Given the description of an element on the screen output the (x, y) to click on. 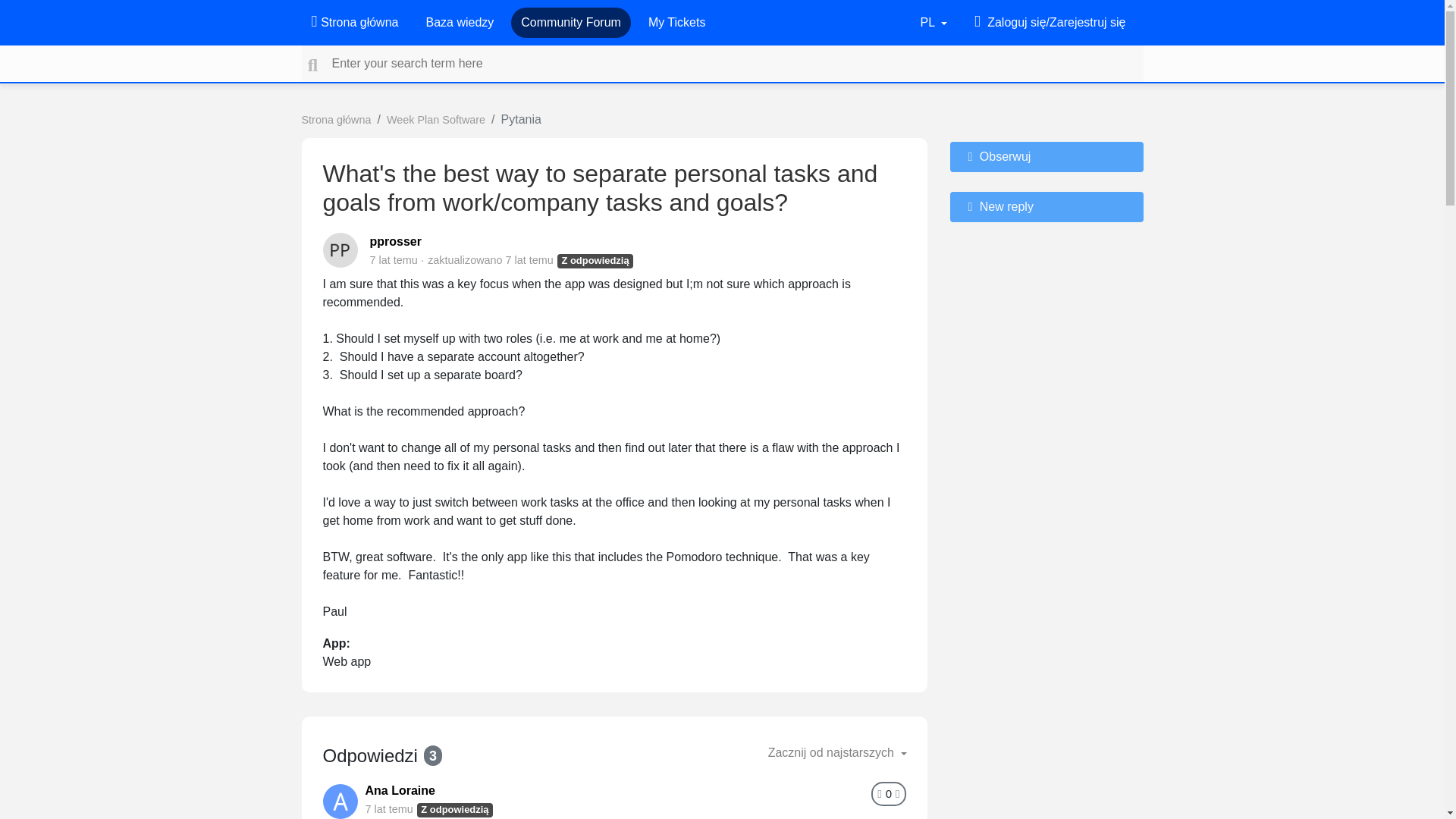
Obserwuj (1045, 156)
Zacznij od najstarszych (837, 752)
New reply (1045, 206)
Week Plan Software (435, 119)
14 grudnia 2017 10:09 (529, 259)
12 grudnia 2017 10:31 (389, 808)
PL (933, 22)
Baza wiedzy (459, 22)
Community Forum (571, 22)
pprosser (395, 241)
Ana Loraine (400, 789)
11 grudnia 2017 15:50 (393, 259)
My Tickets (676, 22)
